Given the description of an element on the screen output the (x, y) to click on. 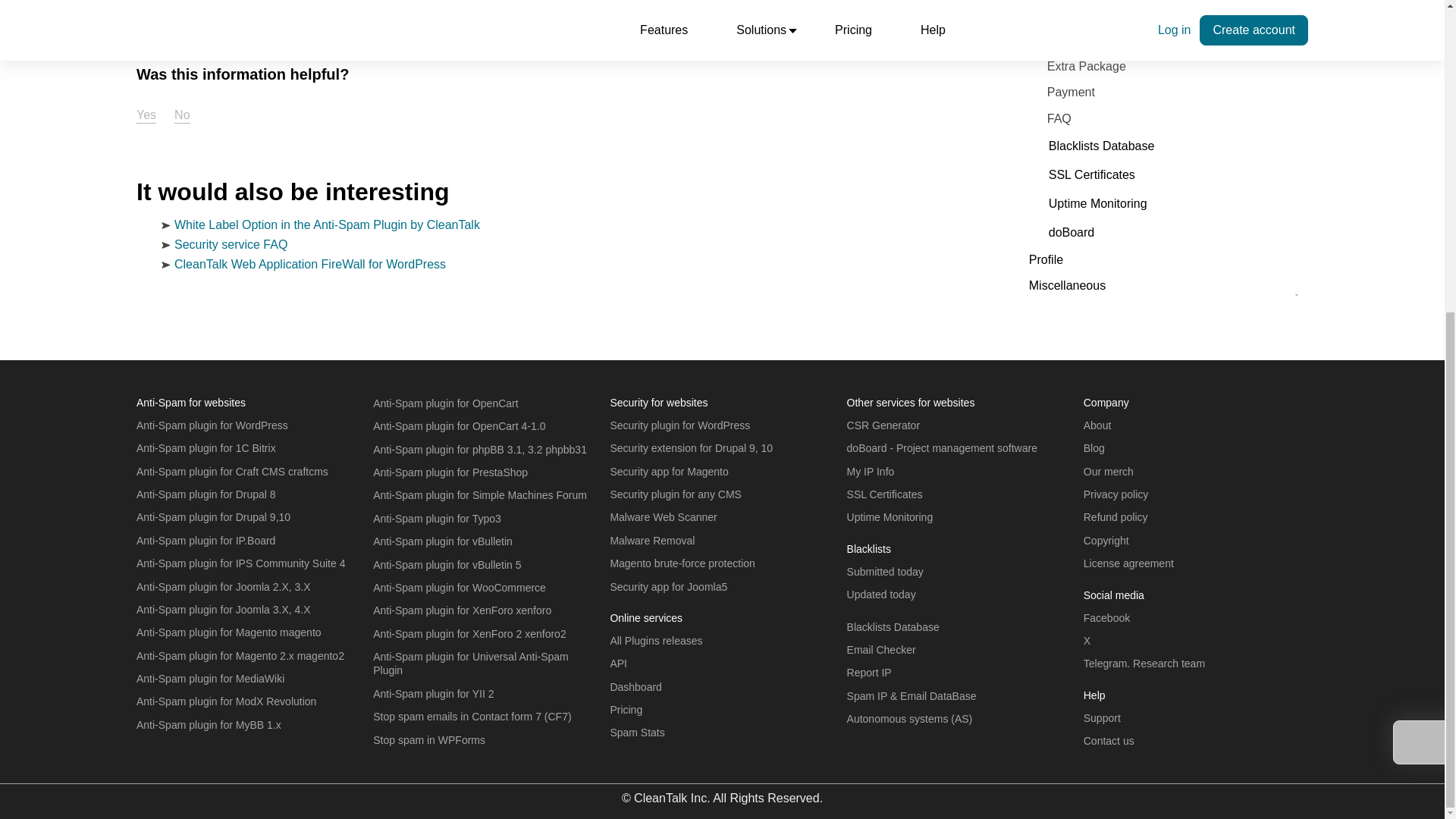
Pricing (626, 709)
Support (1102, 717)
All Plugins releases (655, 640)
Contact us (1108, 740)
Dashboard (636, 686)
Our merch (1108, 471)
Blog (1094, 448)
API (618, 663)
Spam Stats (636, 732)
About (1097, 425)
